Given the description of an element on the screen output the (x, y) to click on. 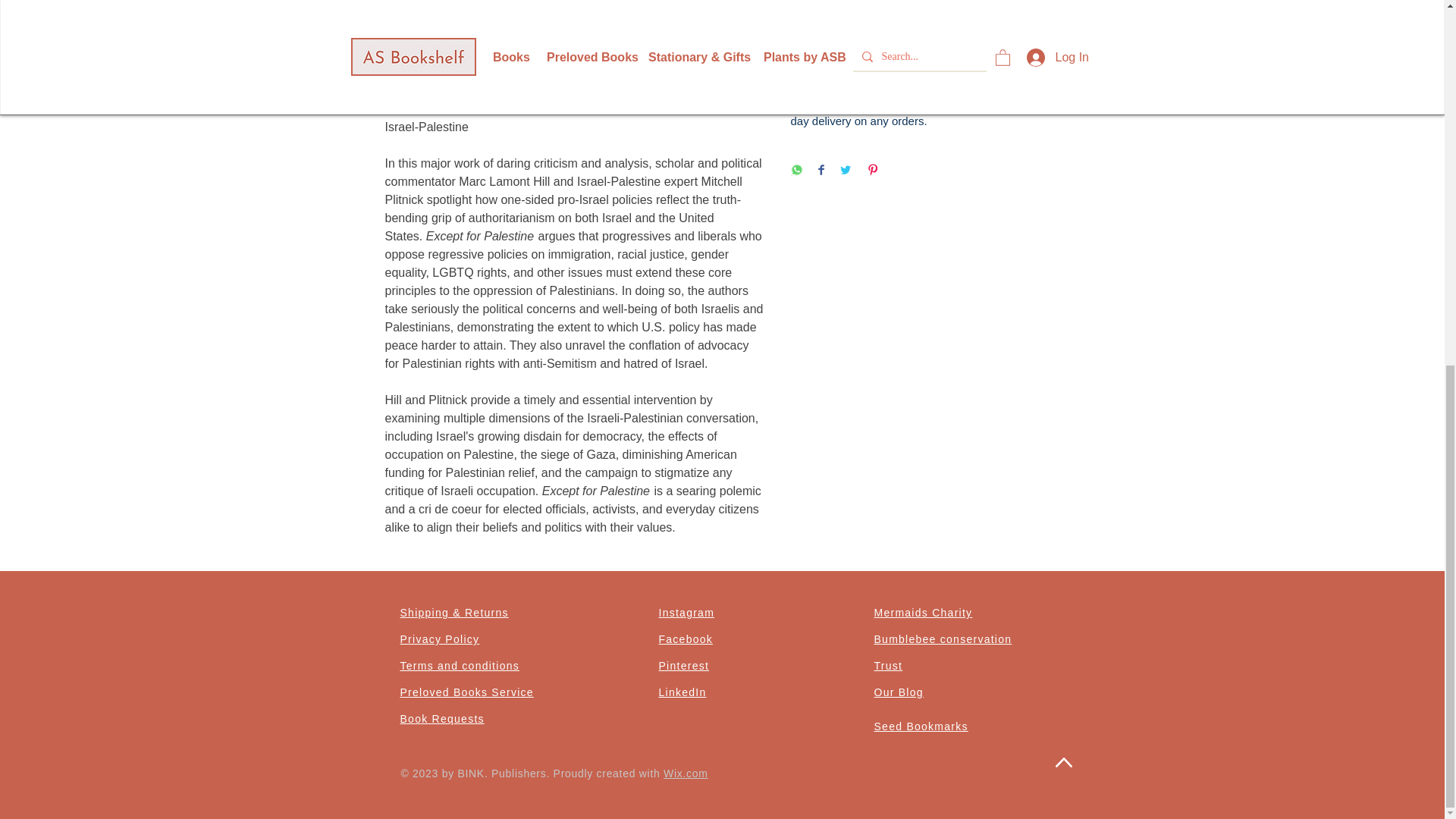
Mermaids Charity (922, 612)
Shipment (924, 57)
Terms and conditions (459, 665)
Facebook (685, 639)
Bumblebee conservation Trust (942, 652)
Book Requests (442, 718)
LinkedIn (682, 692)
Seed Bookmarks (920, 726)
Wix.com (685, 773)
Preloved Books Service (467, 692)
